Given the description of an element on the screen output the (x, y) to click on. 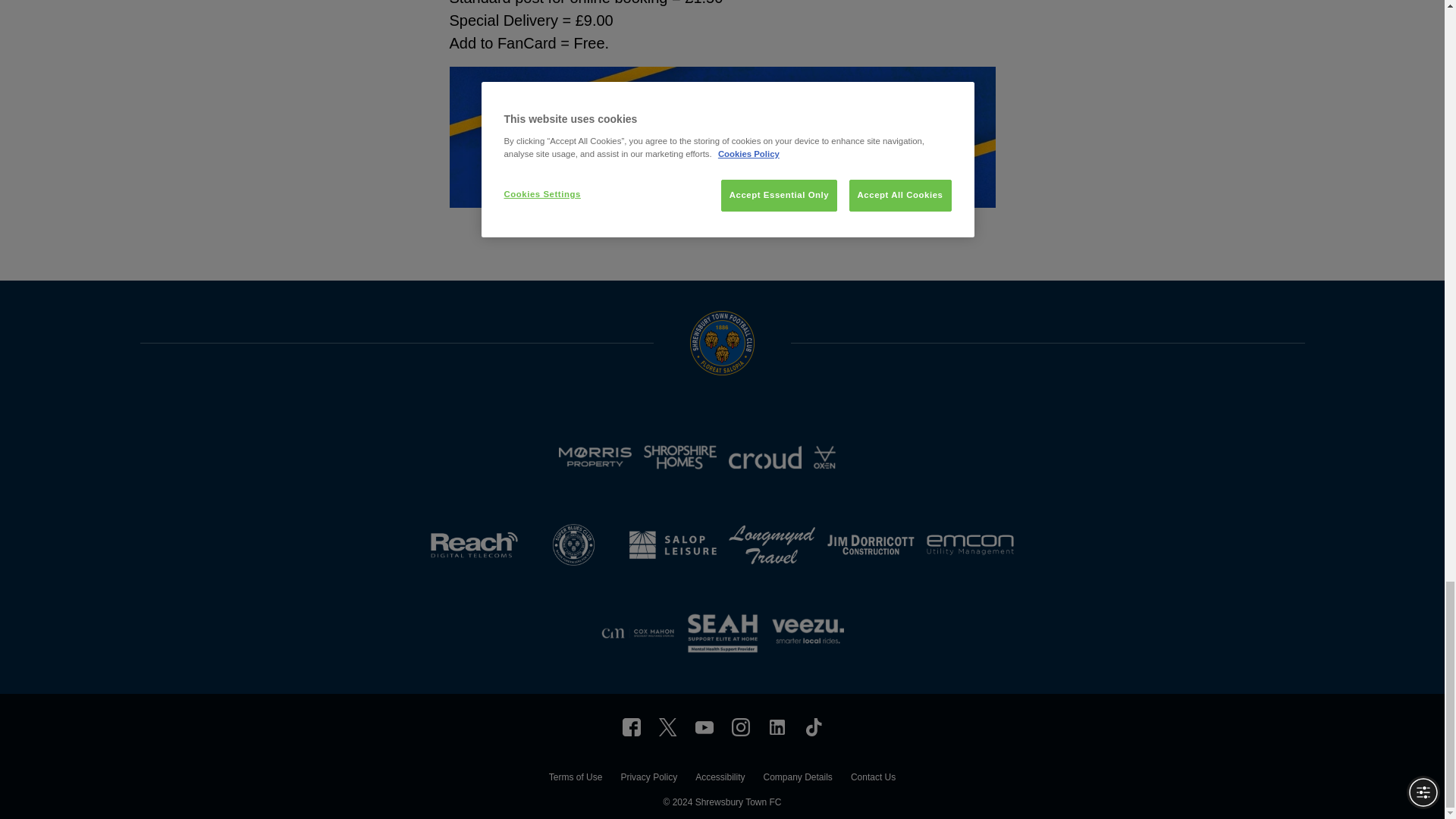
Contact Us (872, 779)
Terms of Use (575, 779)
Company Details (796, 779)
Terms of Use (575, 779)
Accessibility (719, 779)
Company Details (796, 779)
Shrewsbury Town (703, 727)
Shrewsbury Town (776, 727)
Official Shrewsbury Town TikTok (812, 727)
Privacy Policy (648, 779)
Accessibility (719, 779)
Privacy Policy (648, 779)
Shrewsbury Town (630, 727)
